Given the description of an element on the screen output the (x, y) to click on. 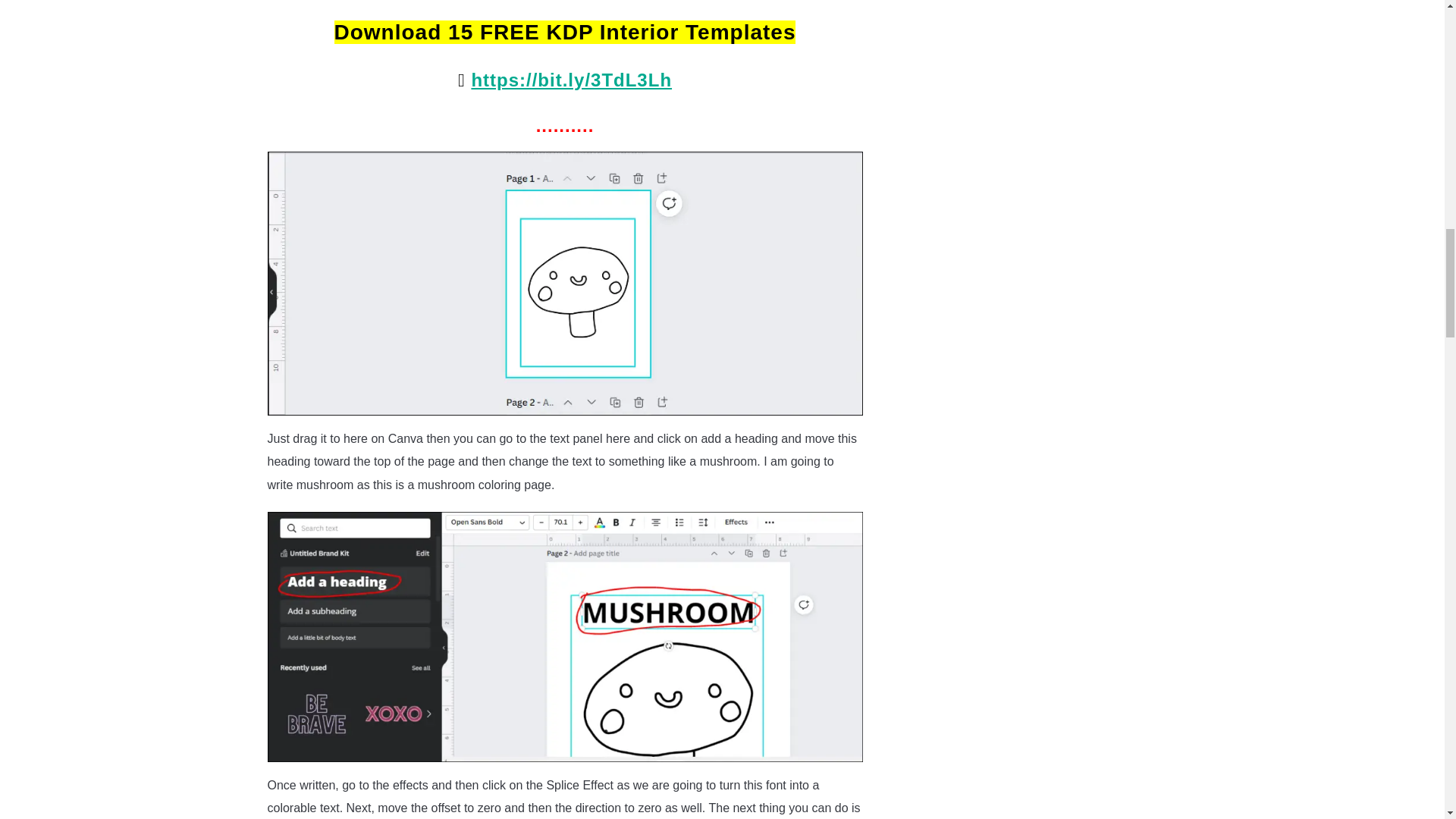
Click to download (570, 79)
